Given the description of an element on the screen output the (x, y) to click on. 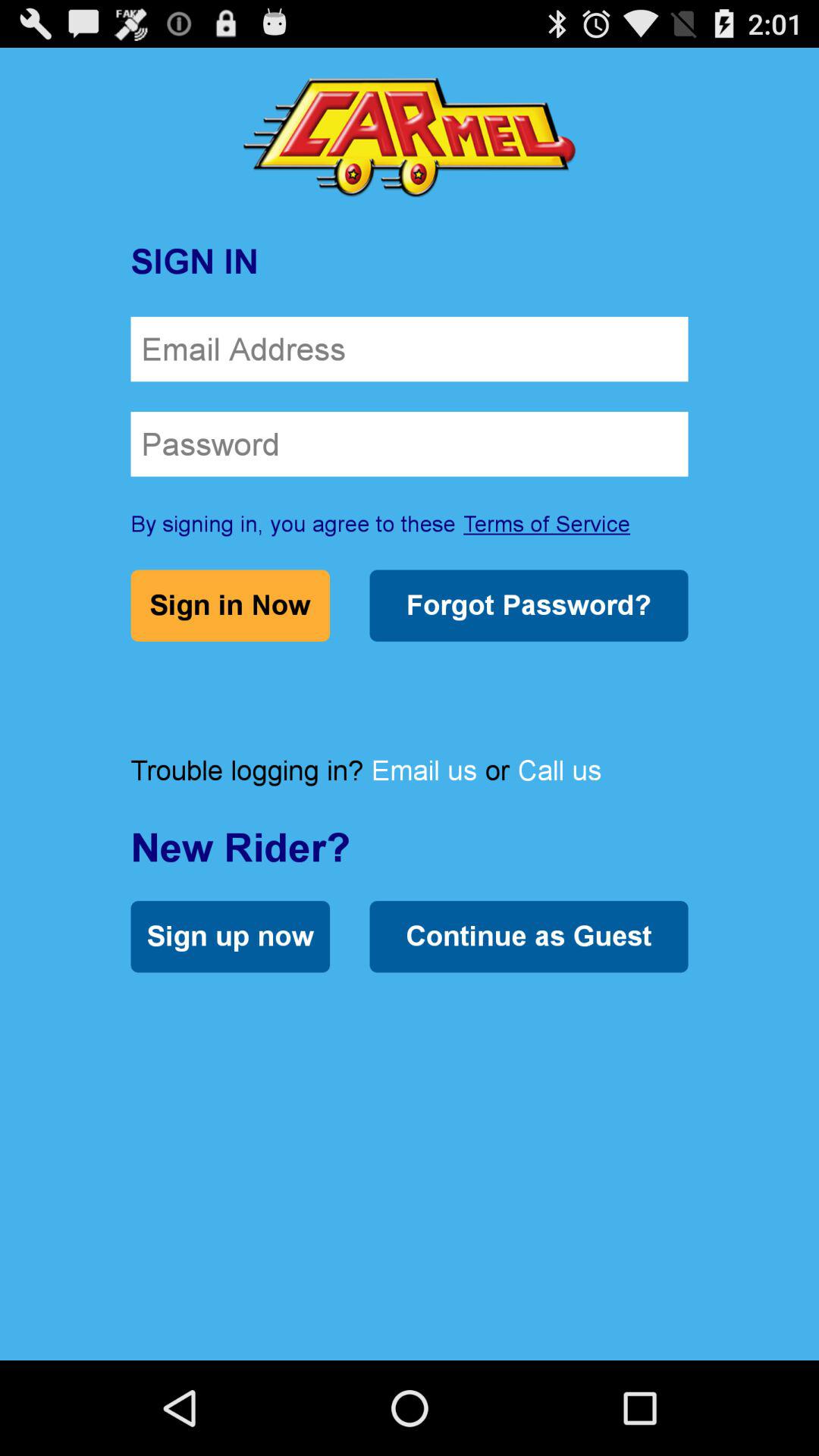
turn on item next to or (559, 770)
